Given the description of an element on the screen output the (x, y) to click on. 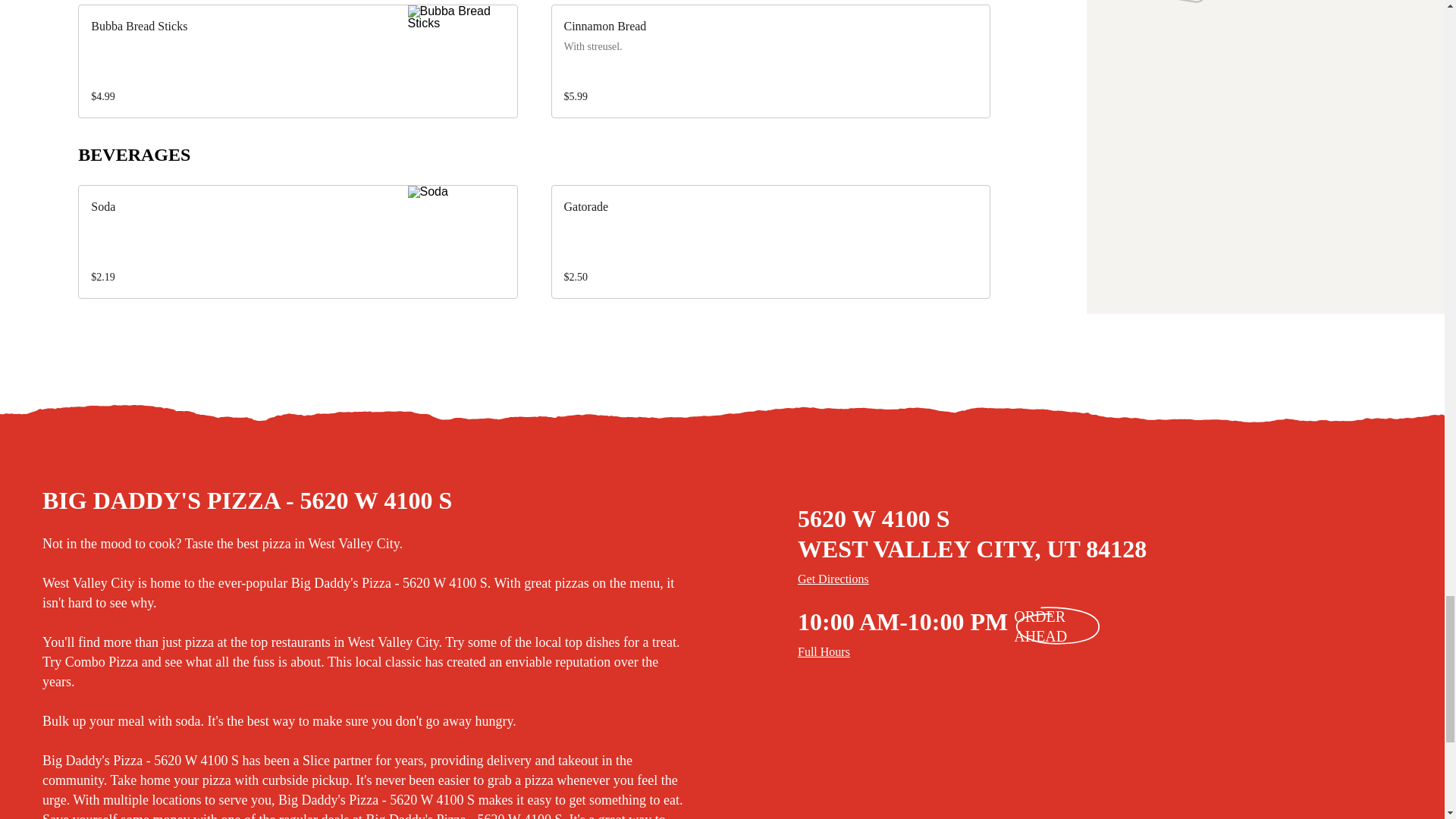
Get Directions (1119, 579)
